Given the description of an element on the screen output the (x, y) to click on. 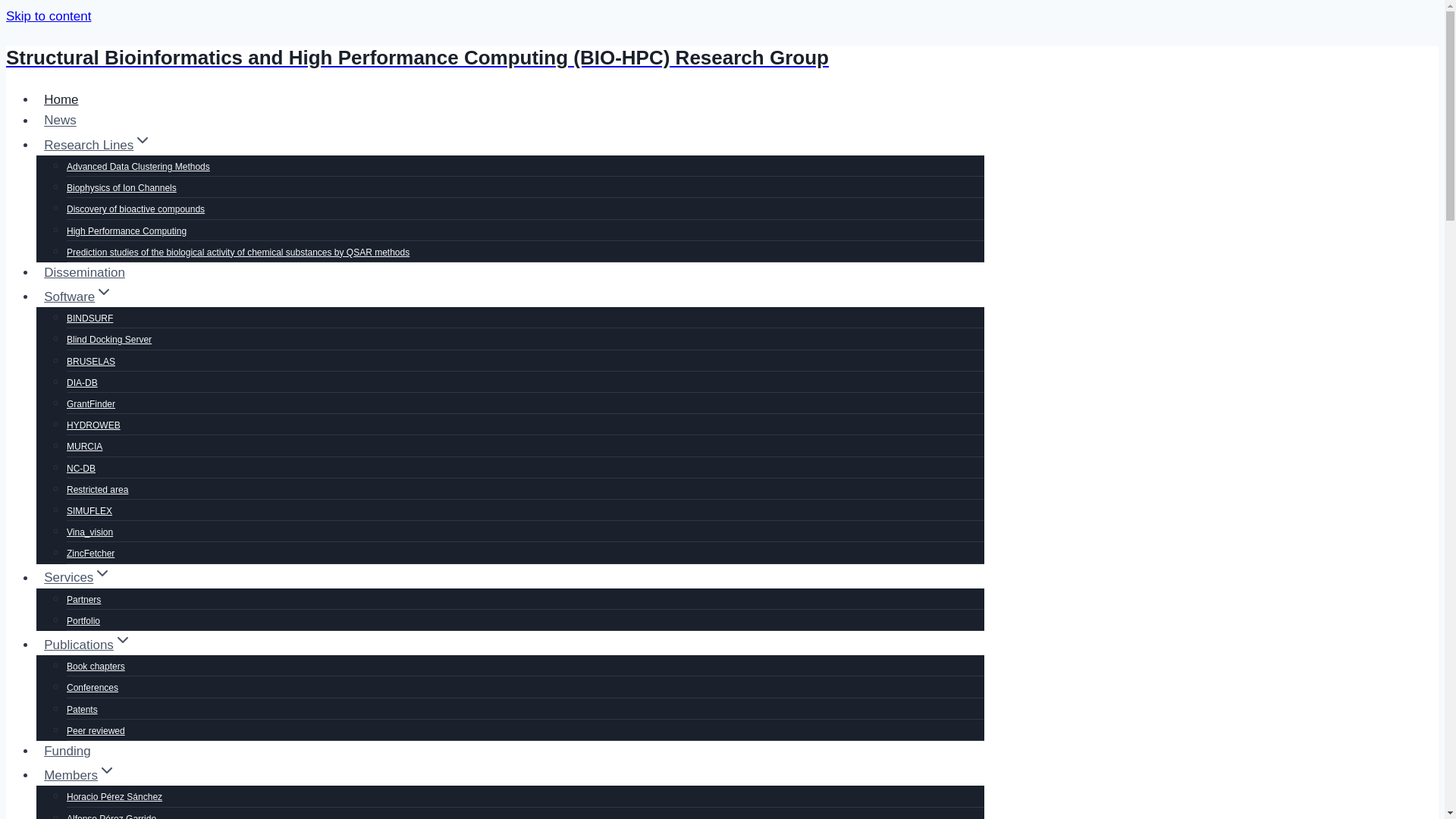
SoftwareExpand (78, 296)
Discovery of bioactive compounds (135, 208)
Expand (106, 770)
Blind Docking Server (108, 339)
SIMUFLEX (89, 510)
Book chapters (95, 665)
GrantFinder (90, 403)
Skip to content (47, 16)
Advanced Data Clustering Methods (137, 166)
BINDSURF (89, 317)
Funding (67, 750)
Portfolio (83, 620)
MembersExpand (79, 775)
Expand (103, 291)
